Given the description of an element on the screen output the (x, y) to click on. 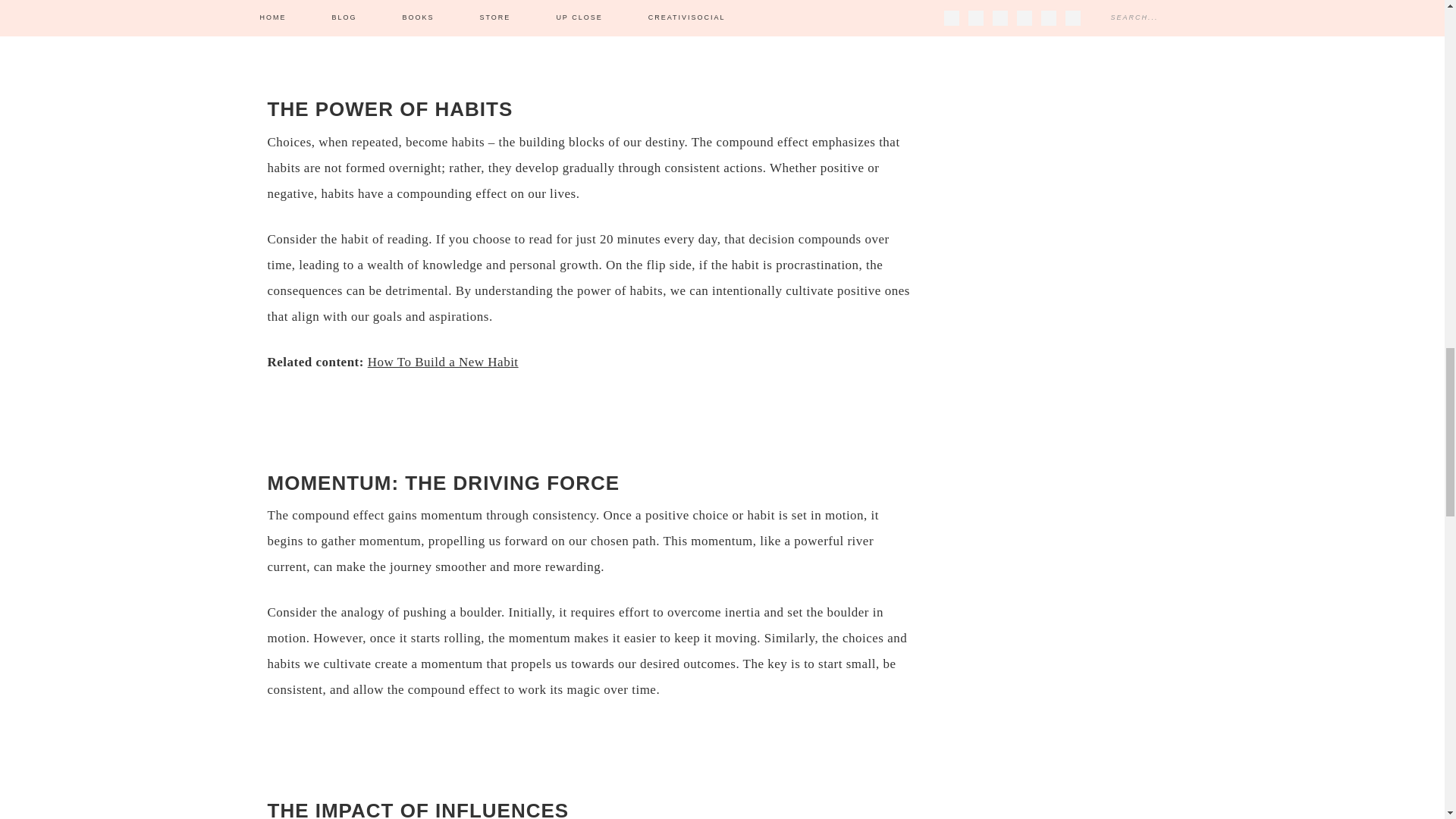
How To Build a New Habit (443, 361)
